Given the description of an element on the screen output the (x, y) to click on. 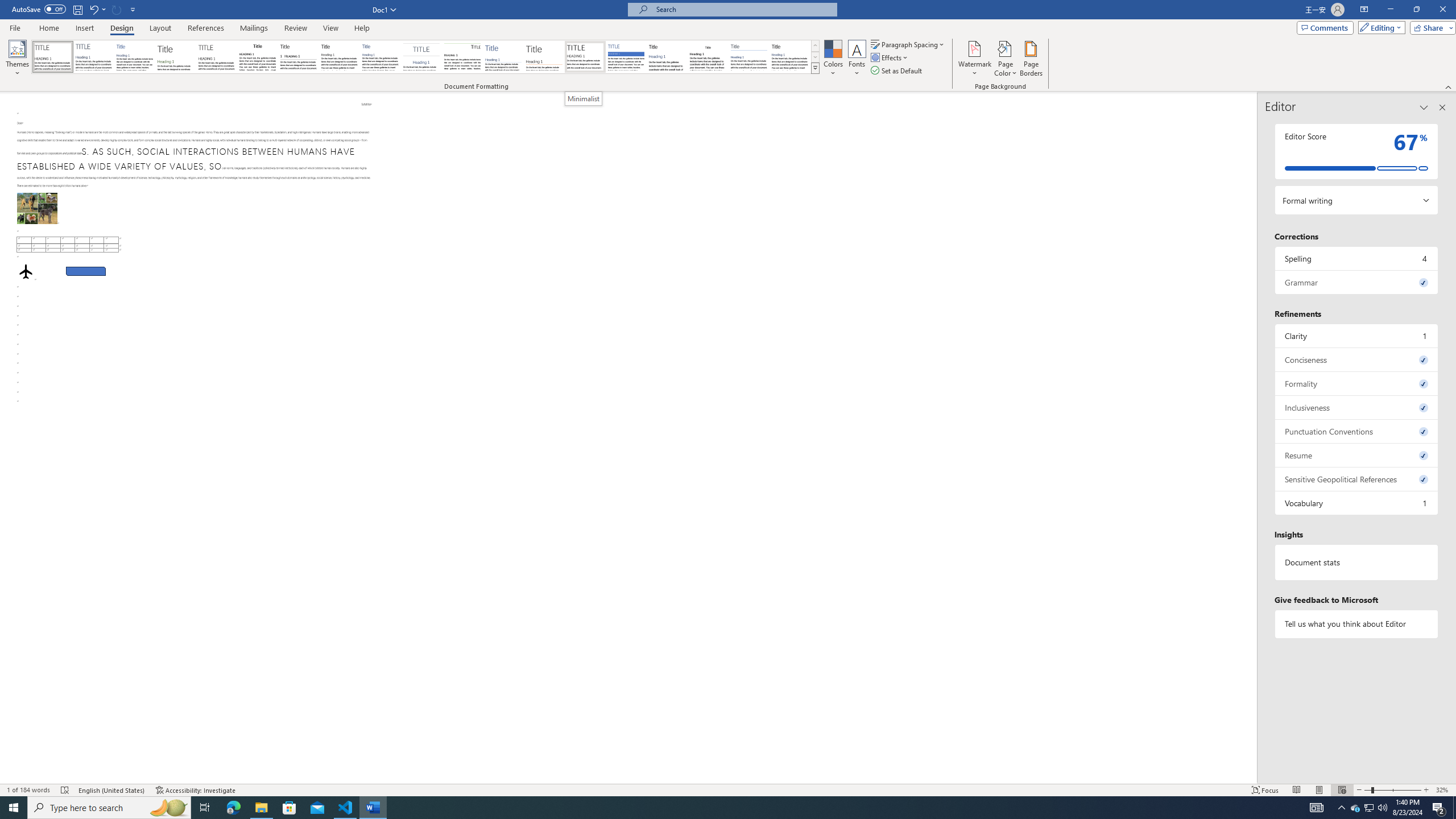
Word 2003 (707, 56)
Lines (Distinctive) (462, 56)
Style Set (814, 67)
Spelling, 4 issues. Press space or enter to review items. (1356, 258)
Shaded (625, 56)
Themes (17, 58)
Page Borders... (1031, 58)
Editing (1379, 27)
Basic (Simple) (135, 56)
